Given the description of an element on the screen output the (x, y) to click on. 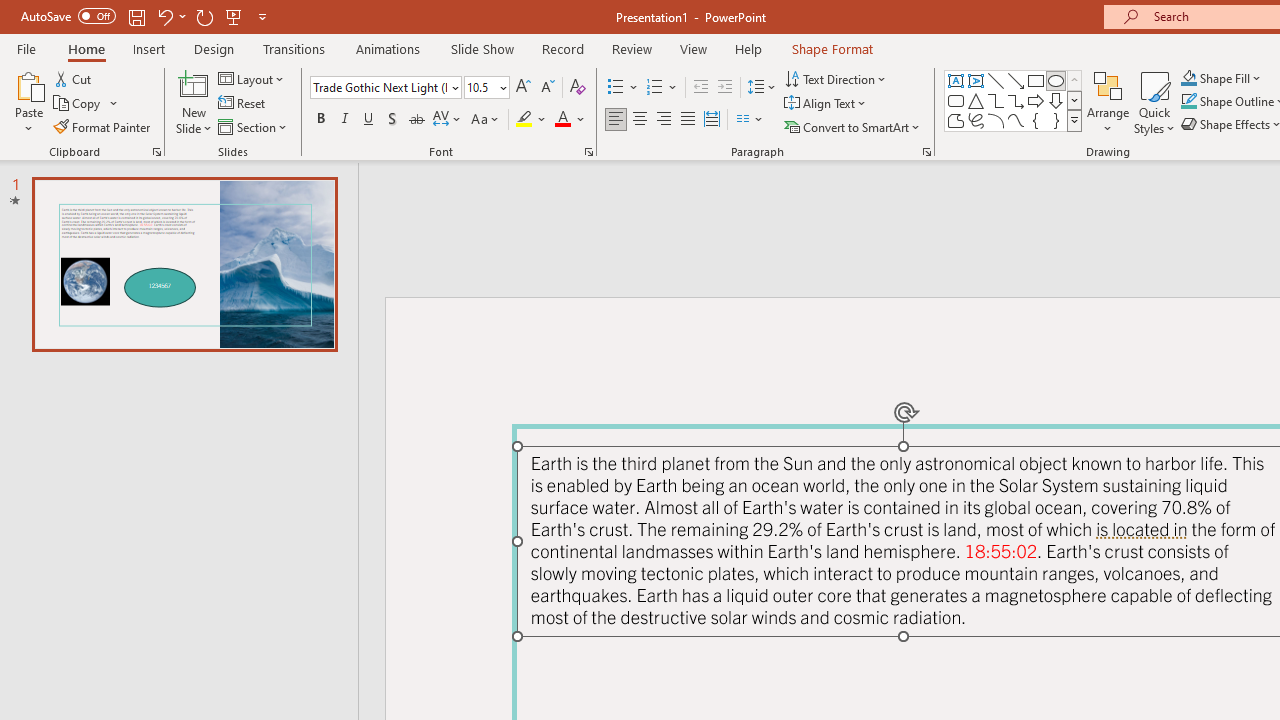
Help (748, 48)
Arc (995, 120)
Align Right (663, 119)
Align Left (616, 119)
Justify (687, 119)
Right Brace (1055, 120)
Rectangle: Rounded Corners (955, 100)
From Beginning (234, 15)
Line (995, 80)
Review (631, 48)
Curve (1016, 120)
